Given the description of an element on the screen output the (x, y) to click on. 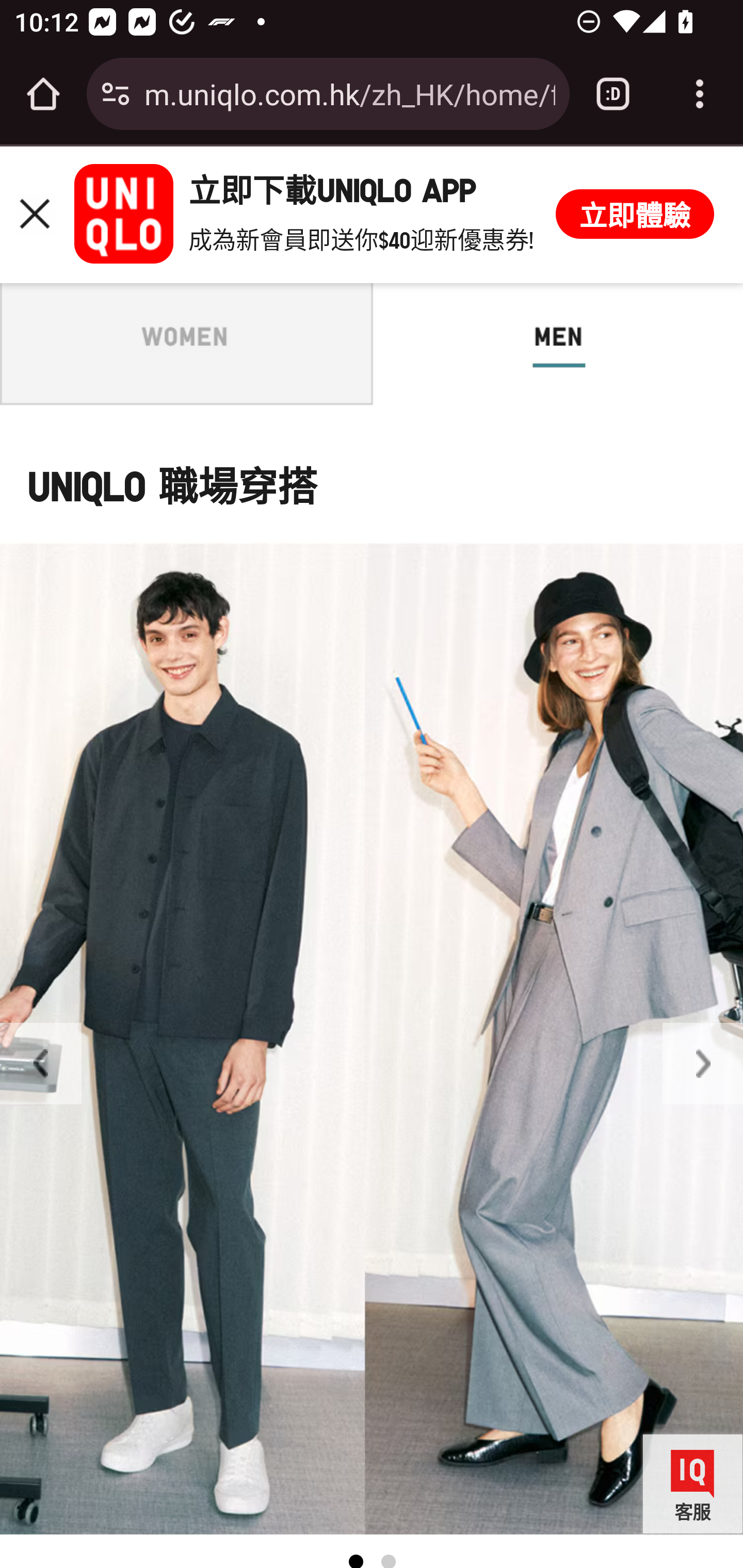
Open the home page (43, 93)
Connection is secure (115, 93)
Switch or close tabs (612, 93)
Customize and control Google Chrome (699, 93)
立即體驗 (634, 213)
